Given the description of an element on the screen output the (x, y) to click on. 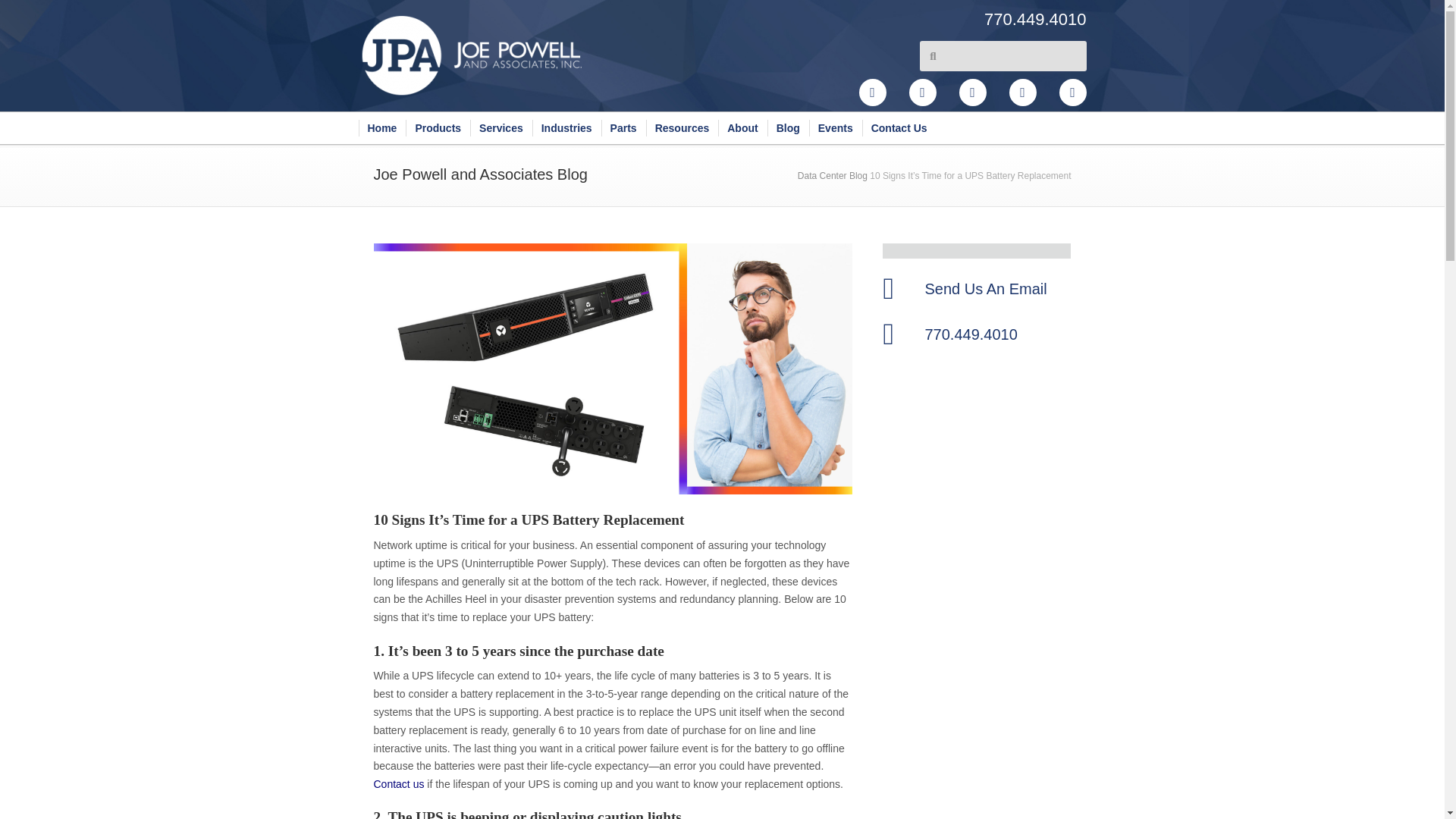
Products (438, 128)
Industries (566, 128)
770.449.4010 (947, 18)
Home (382, 128)
Services (501, 128)
Search (1011, 55)
